Given the description of an element on the screen output the (x, y) to click on. 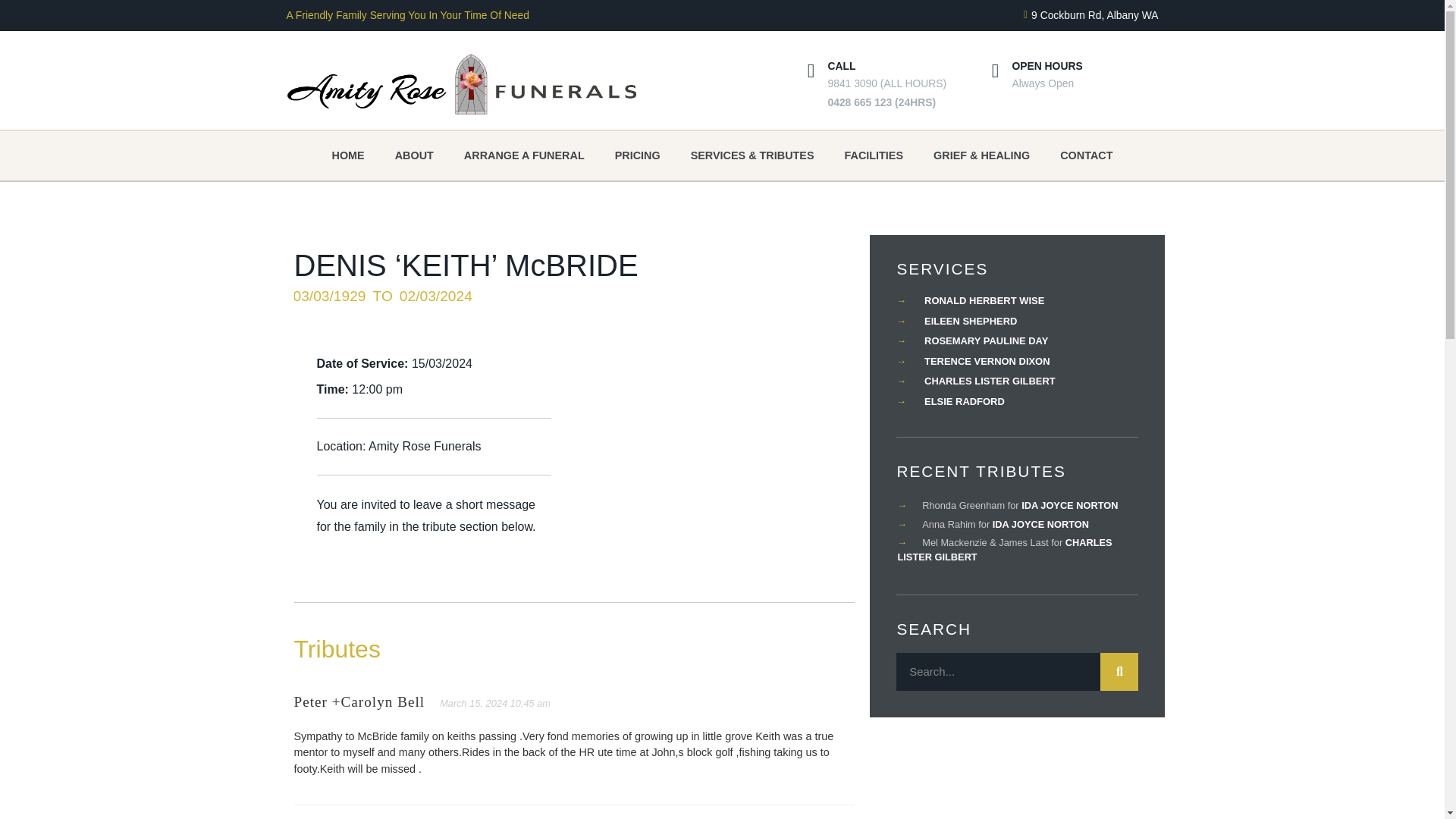
ARRANGE A FUNERAL (523, 155)
RONALD HERBERT WISE (969, 300)
HOME (347, 155)
PRICING (637, 155)
ABOUT (414, 155)
CONTACT (1086, 155)
FACILITIES (873, 155)
